Given the description of an element on the screen output the (x, y) to click on. 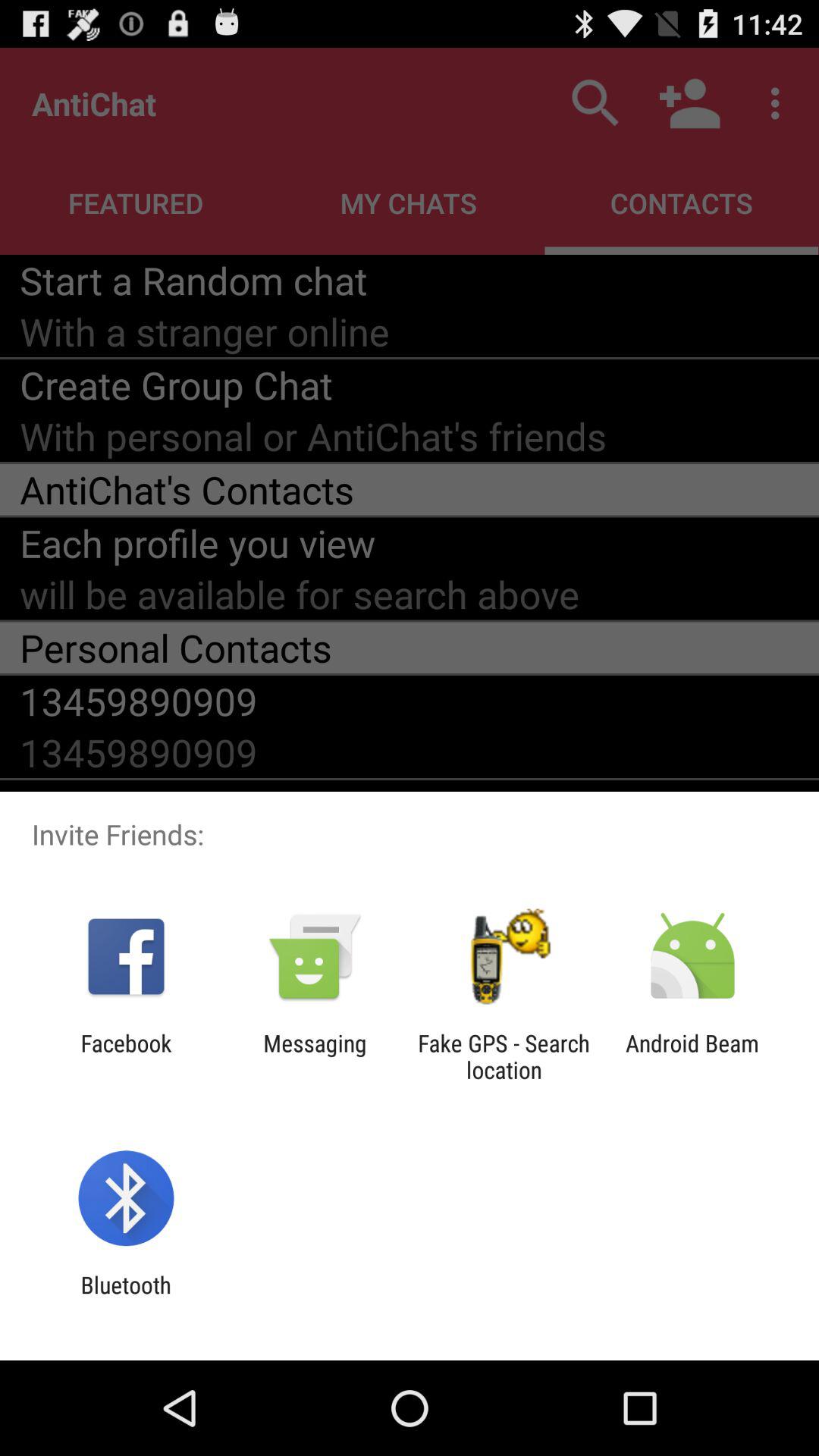
flip until fake gps search icon (503, 1056)
